Given the description of an element on the screen output the (x, y) to click on. 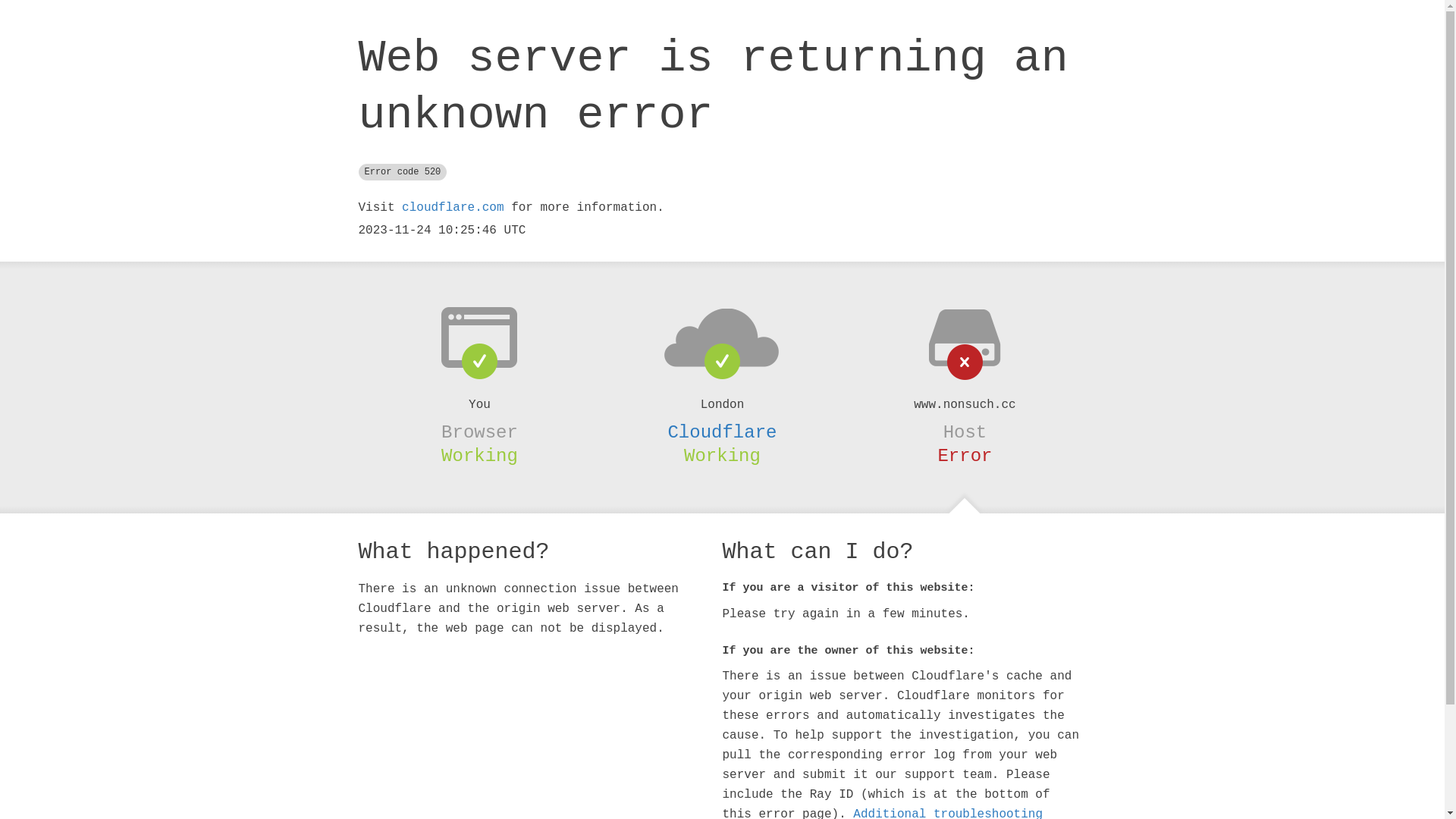
cloudflare.com Element type: text (452, 207)
Cloudflare Element type: text (721, 432)
